Given the description of an element on the screen output the (x, y) to click on. 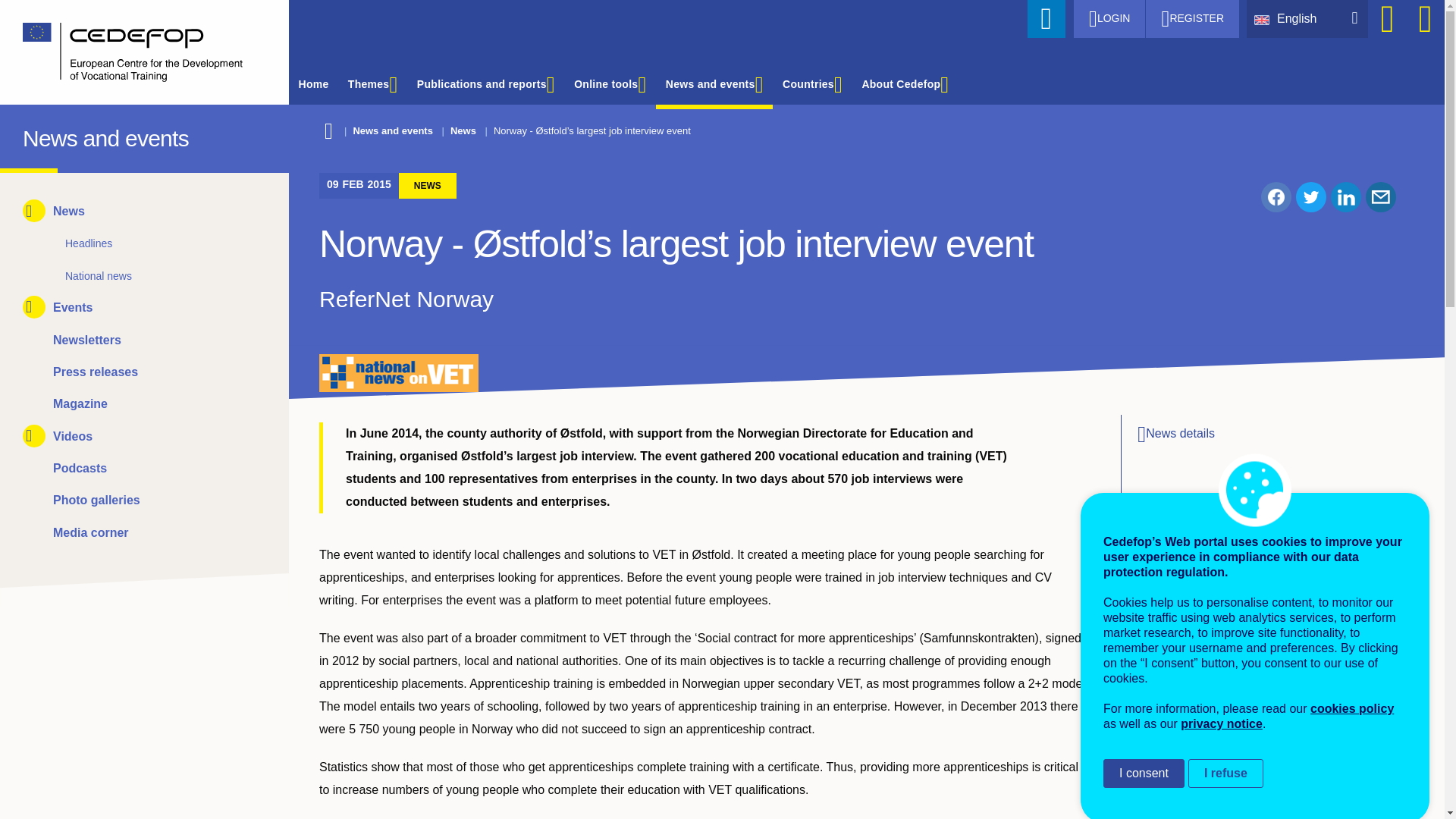
Home (133, 52)
Apply (1046, 18)
CEDEFOP (37, 135)
Home (37, 135)
